Given the description of an element on the screen output the (x, y) to click on. 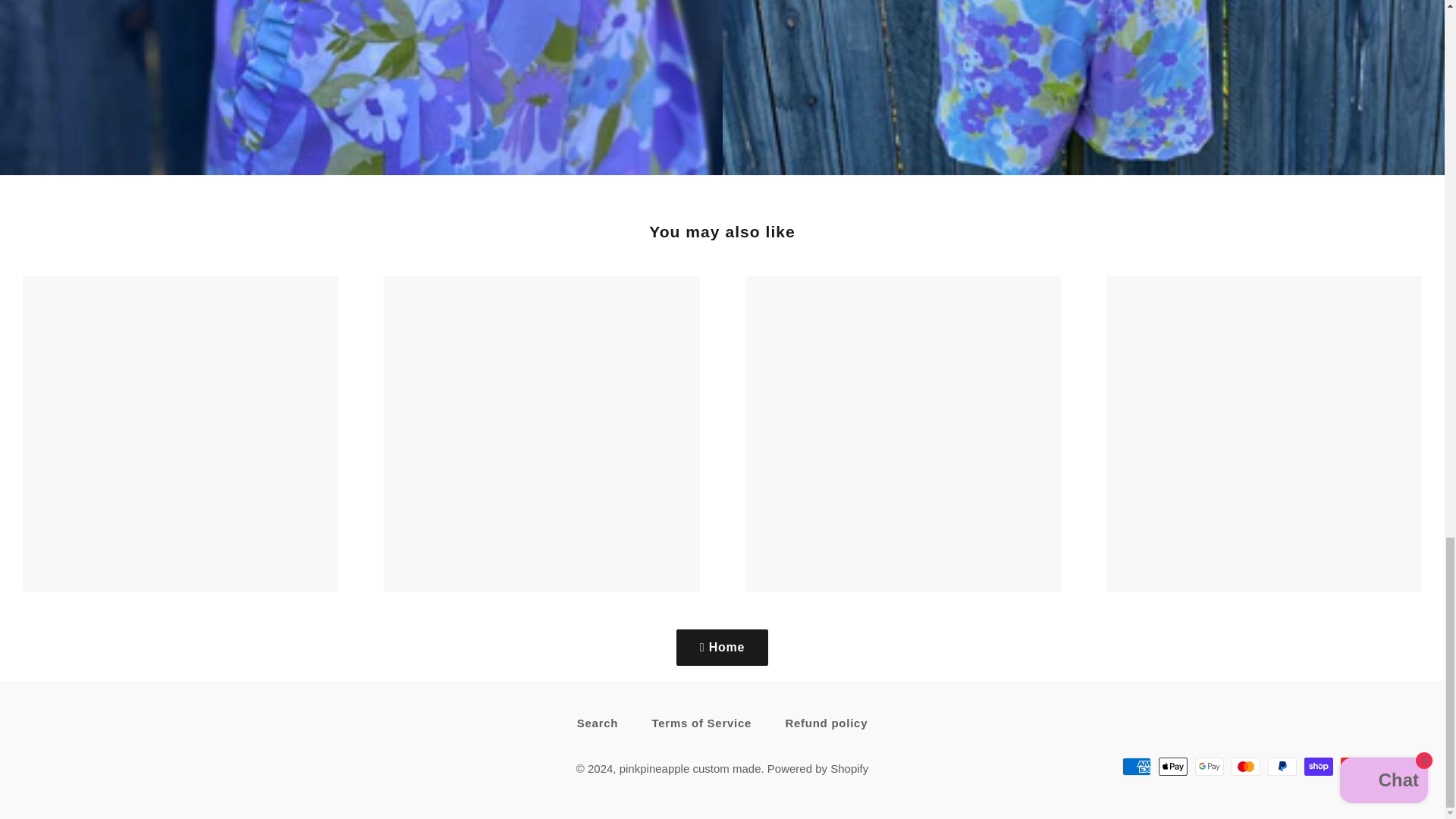
Google Pay (1209, 766)
Home (722, 647)
Shop Pay (1318, 766)
Search (597, 722)
PayPal (1282, 766)
pinkpineapple custom made (690, 768)
Terms of Service (701, 722)
Apple Pay (1173, 766)
American Express (1136, 766)
Visa (1391, 766)
Union Pay (1355, 766)
Mastercard (1245, 766)
Refund policy (826, 722)
